Given the description of an element on the screen output the (x, y) to click on. 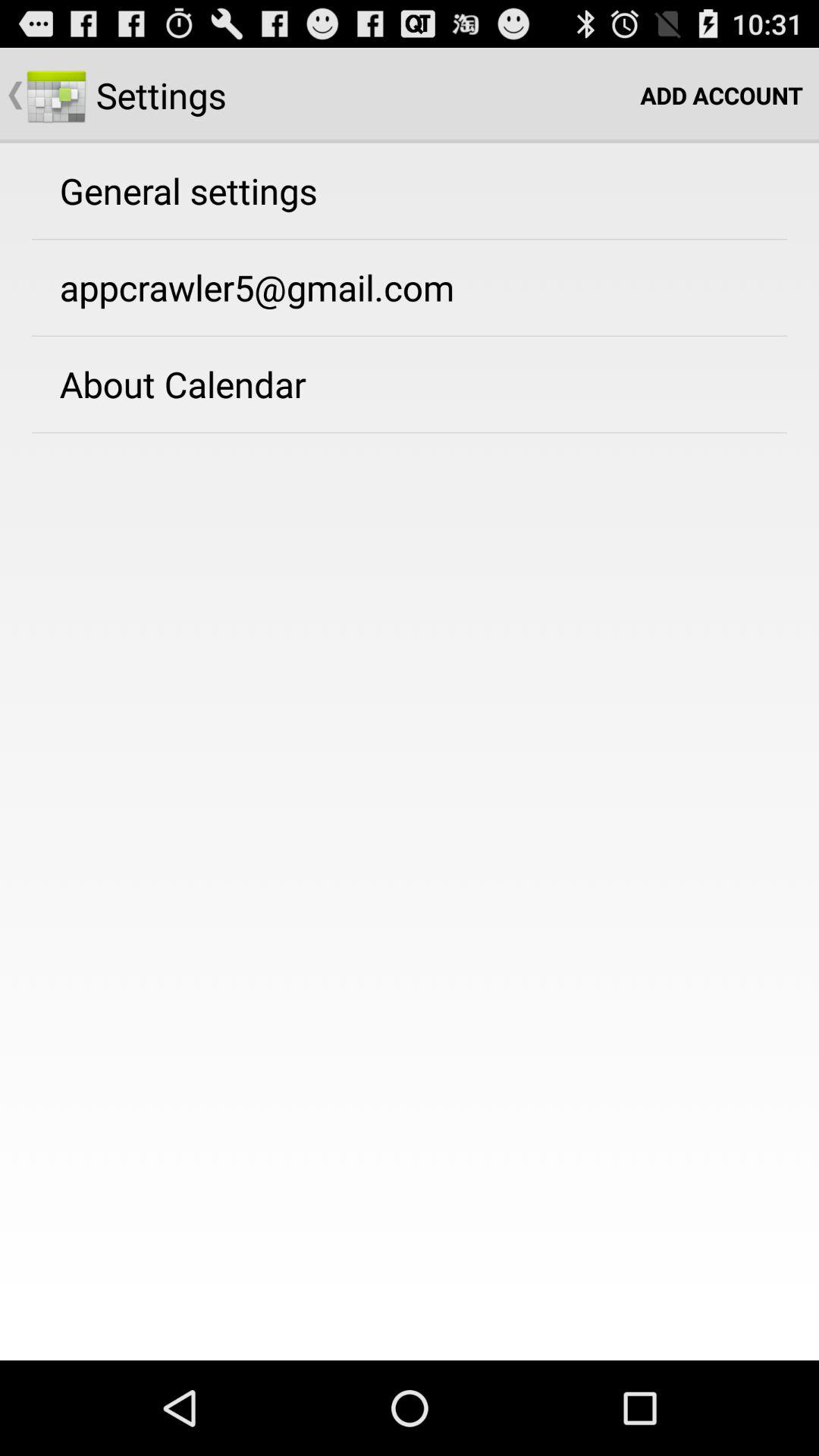
flip to add account item (721, 95)
